Given the description of an element on the screen output the (x, y) to click on. 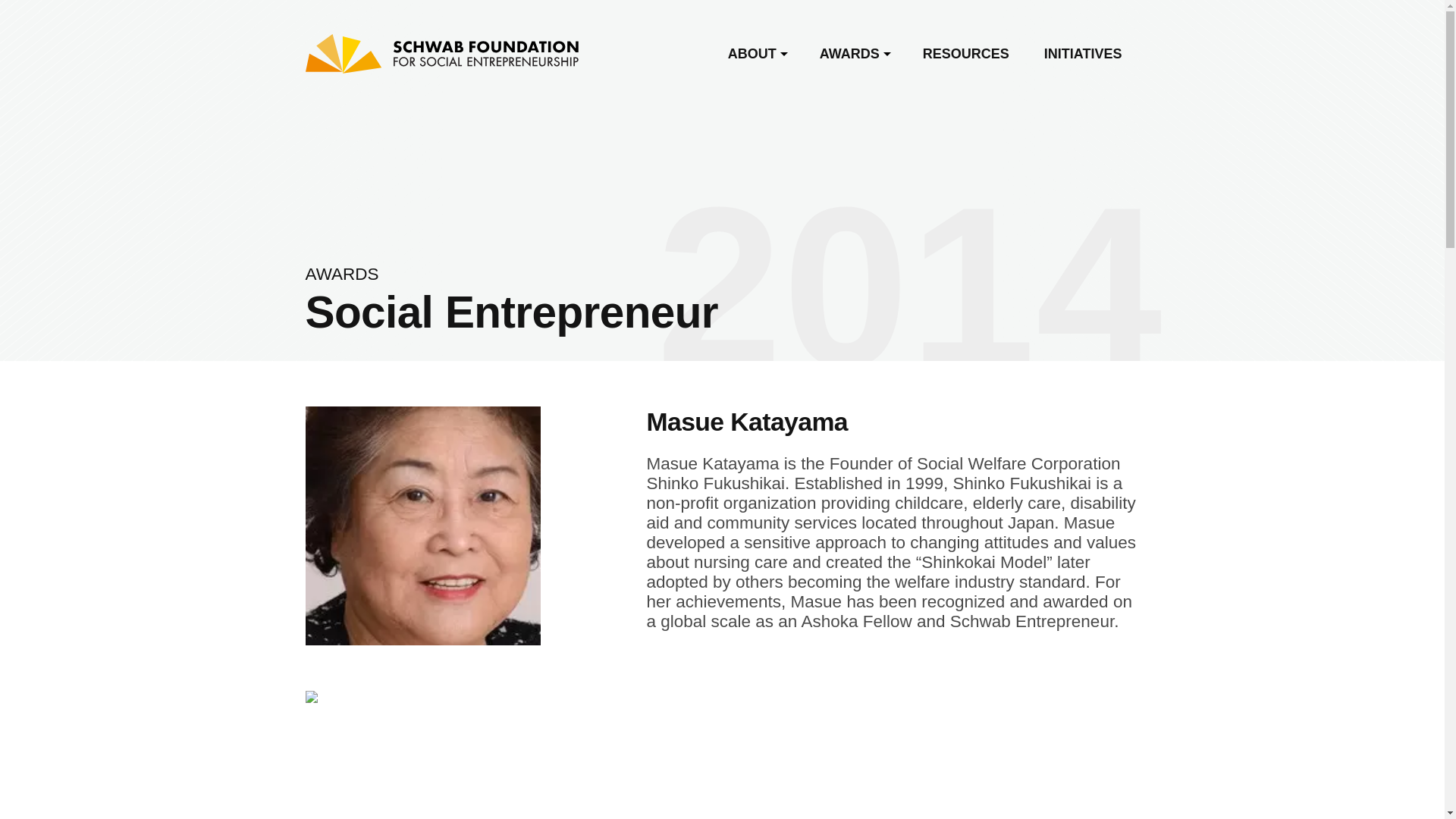
ABOUT (756, 53)
AWARDS (853, 53)
RESOURCES (965, 53)
INITIATIVES (1083, 53)
